Given the description of an element on the screen output the (x, y) to click on. 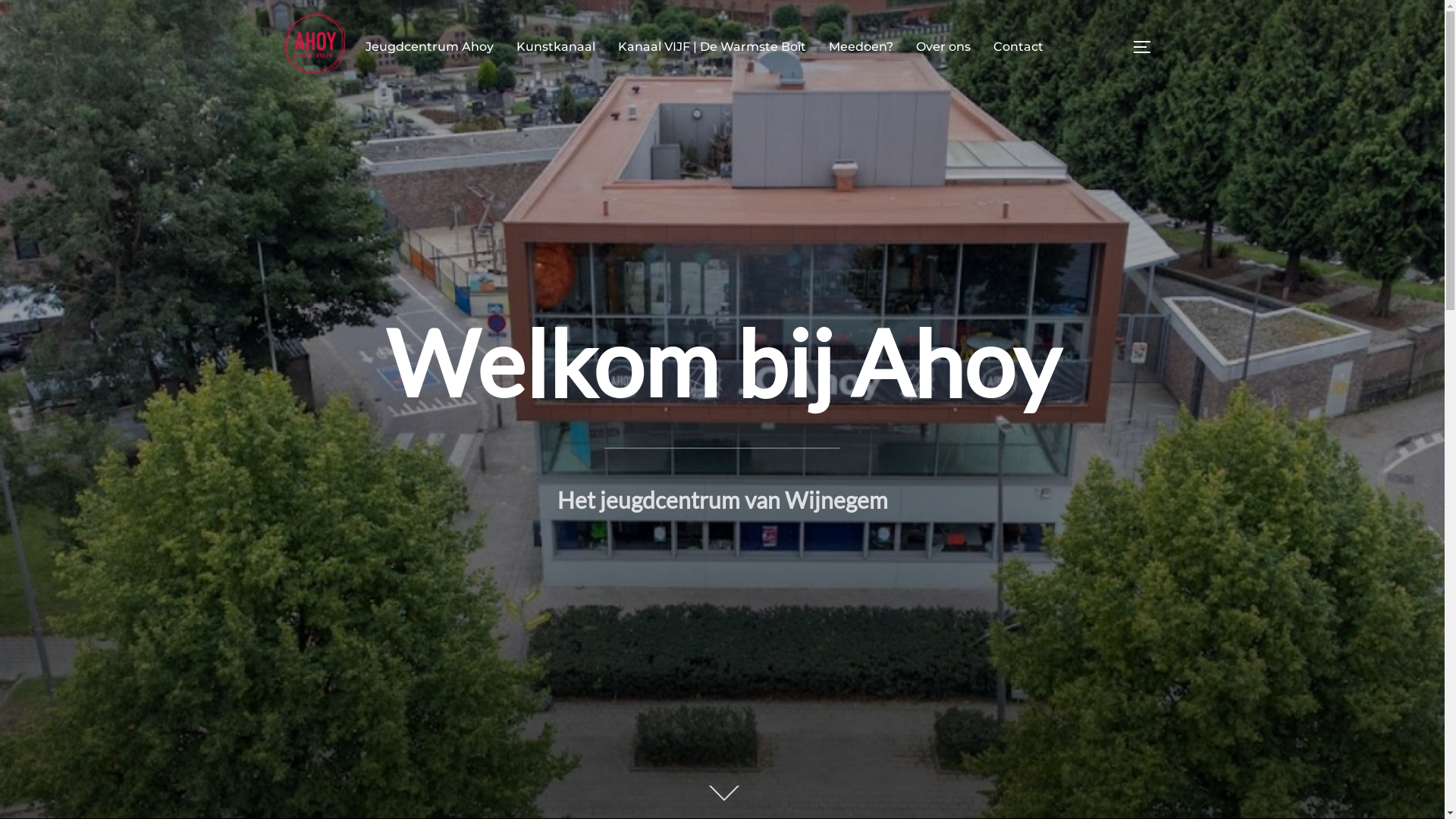
Kunstkanaal Element type: text (555, 46)
Welkom bij Ahoy Element type: text (721, 362)
Meedoen? Element type: text (860, 46)
Over ons Element type: text (943, 46)
Jeugdcentrum Ahoy Element type: text (429, 46)
Contact Element type: text (1018, 46)
Scroll omlaag naar inhoud Element type: hover (721, 794)
